Given the description of an element on the screen output the (x, y) to click on. 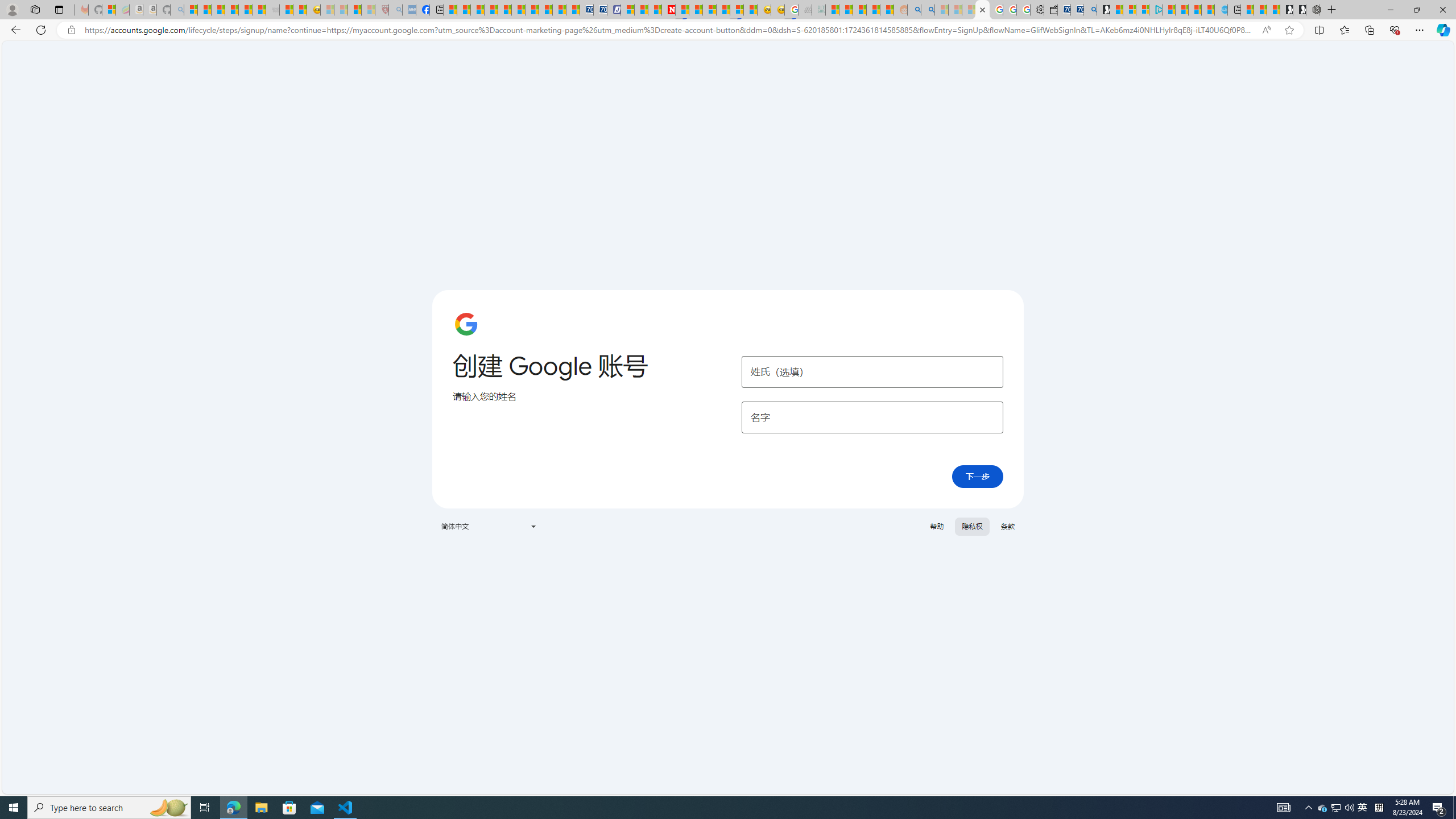
New Report Confirms 2023 Was Record Hot | Watch (245, 9)
